Given the description of an element on the screen output the (x, y) to click on. 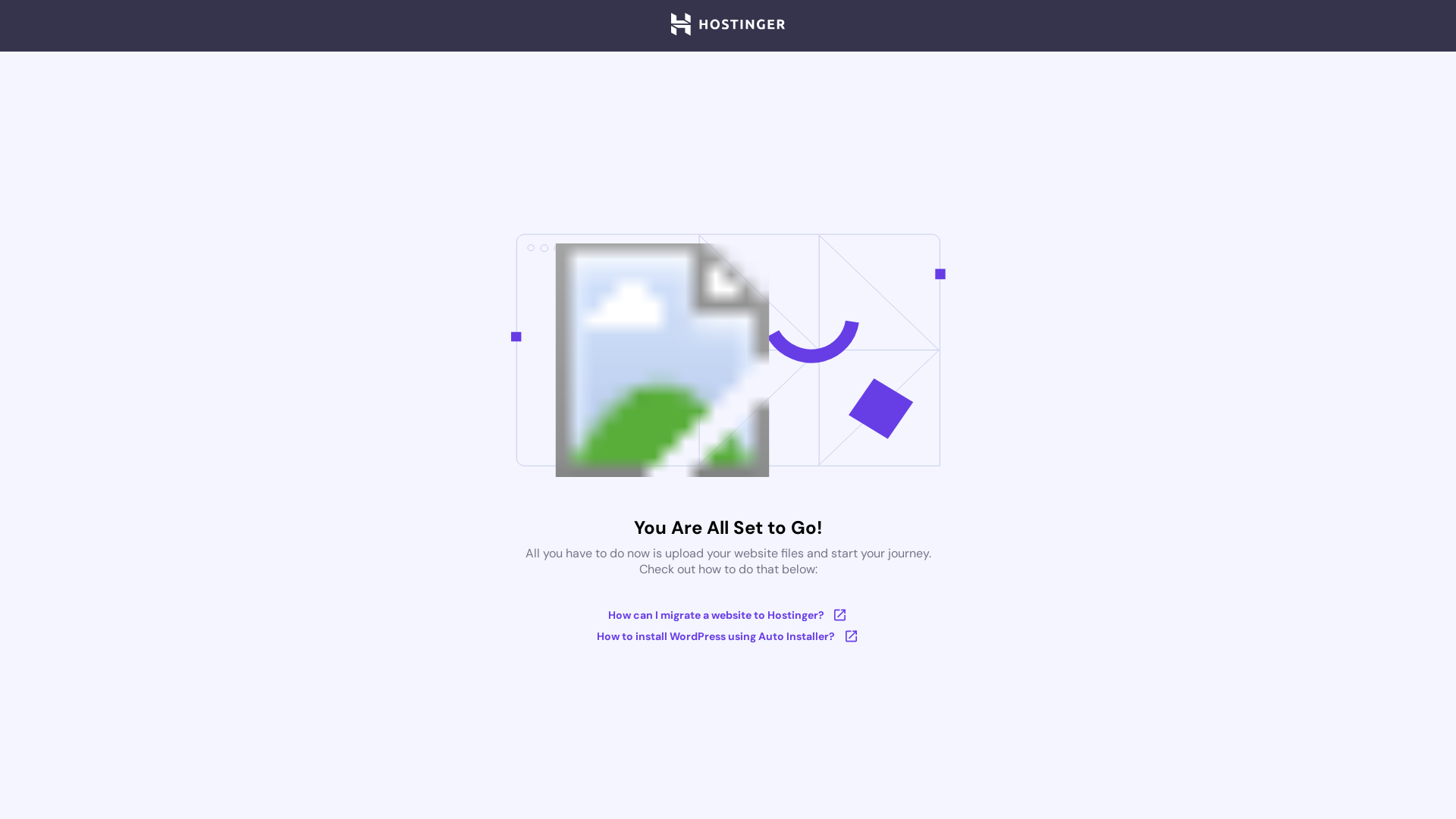
How can I migrate a website to Hostinger? Element type: text (727, 614)
How to install WordPress using Auto Installer? Element type: text (727, 635)
